Given the description of an element on the screen output the (x, y) to click on. 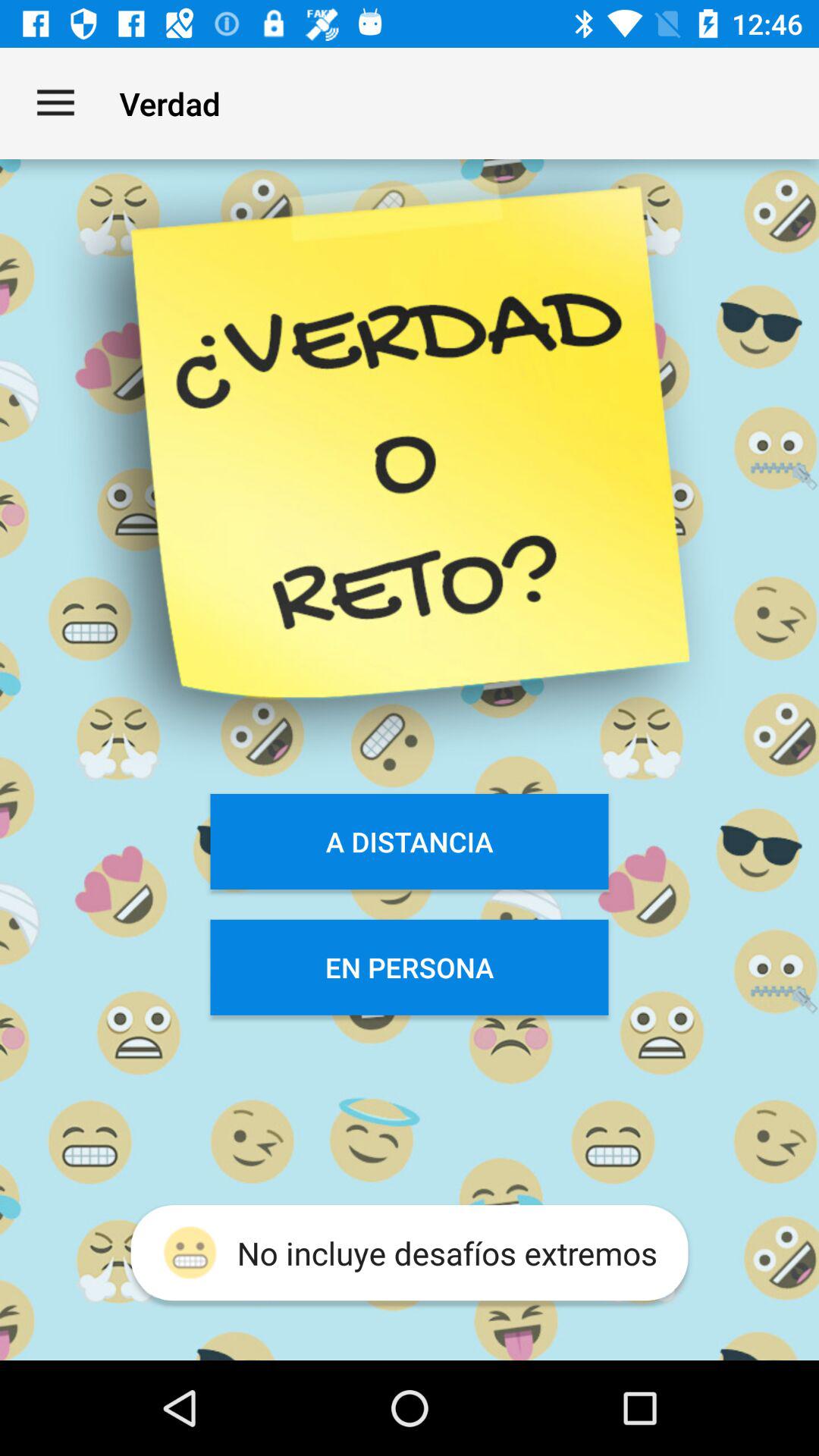
click item below a distancia item (409, 967)
